Given the description of an element on the screen output the (x, y) to click on. 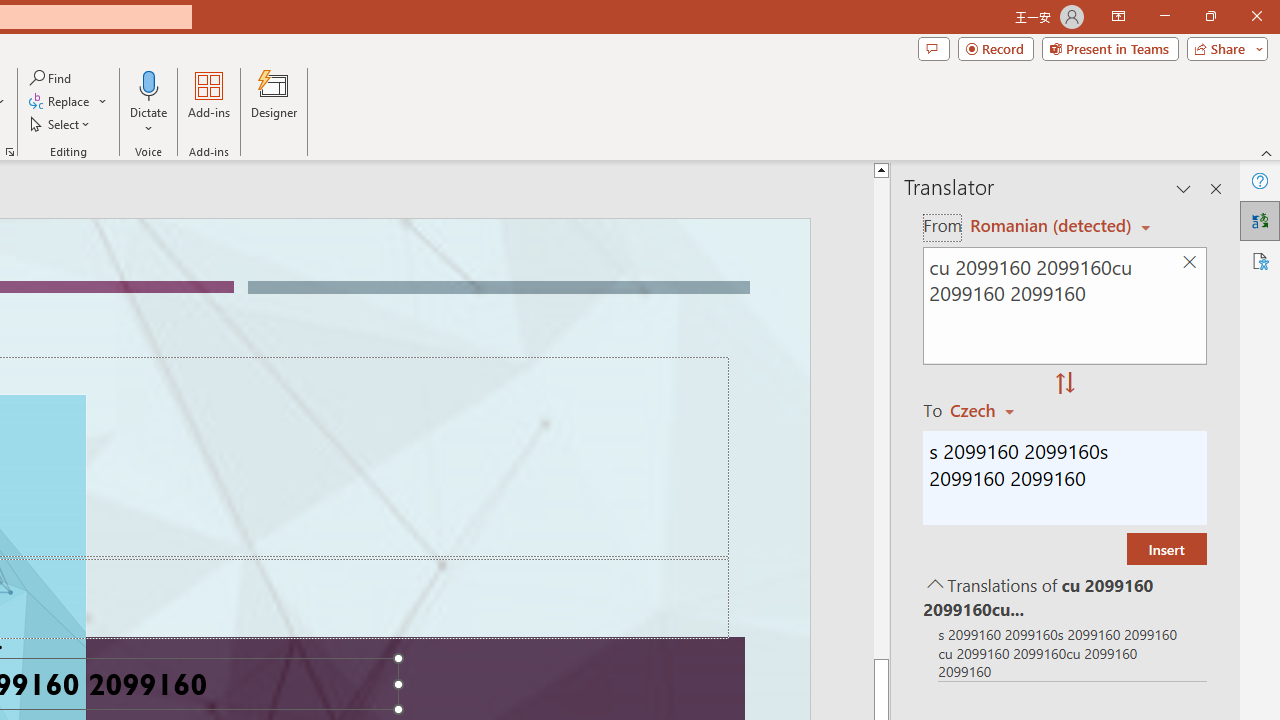
Translations of cu 2099160 2099160cu 2099160 2099160 (1064, 596)
